Given the description of an element on the screen output the (x, y) to click on. 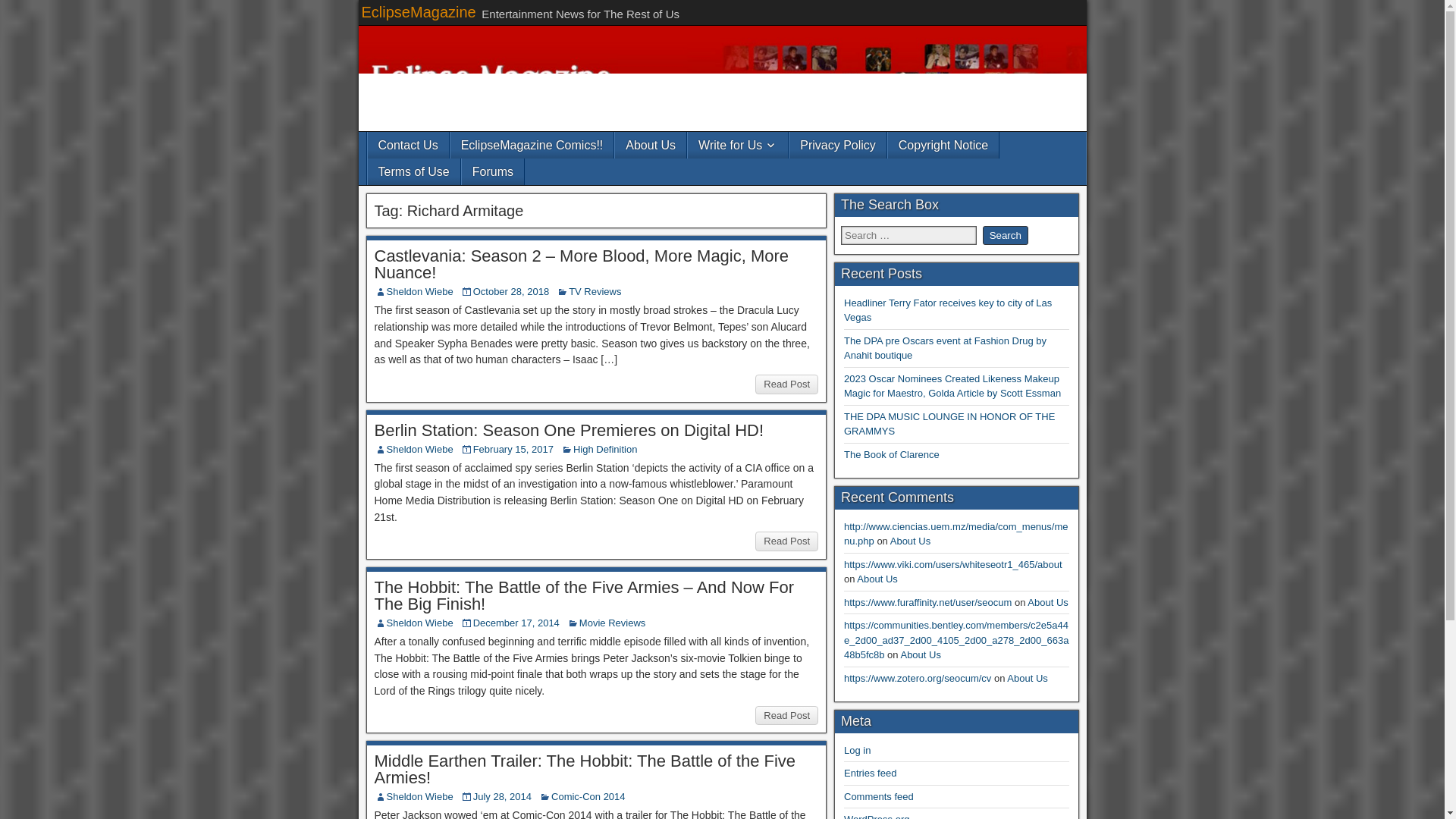
October 28, 2018 (510, 291)
July 28, 2014 (502, 796)
Comic-Con 2014 (588, 796)
TV Reviews (595, 291)
EclipseMagazine Comics!! (531, 144)
Sheldon Wiebe (419, 796)
Sheldon Wiebe (419, 291)
February 15, 2017 (513, 449)
Forums (492, 171)
Privacy Policy (837, 144)
Contact Us (407, 144)
Search (1004, 235)
Movie Reviews (612, 622)
Search (1004, 235)
Copyright Notice (943, 144)
